Given the description of an element on the screen output the (x, y) to click on. 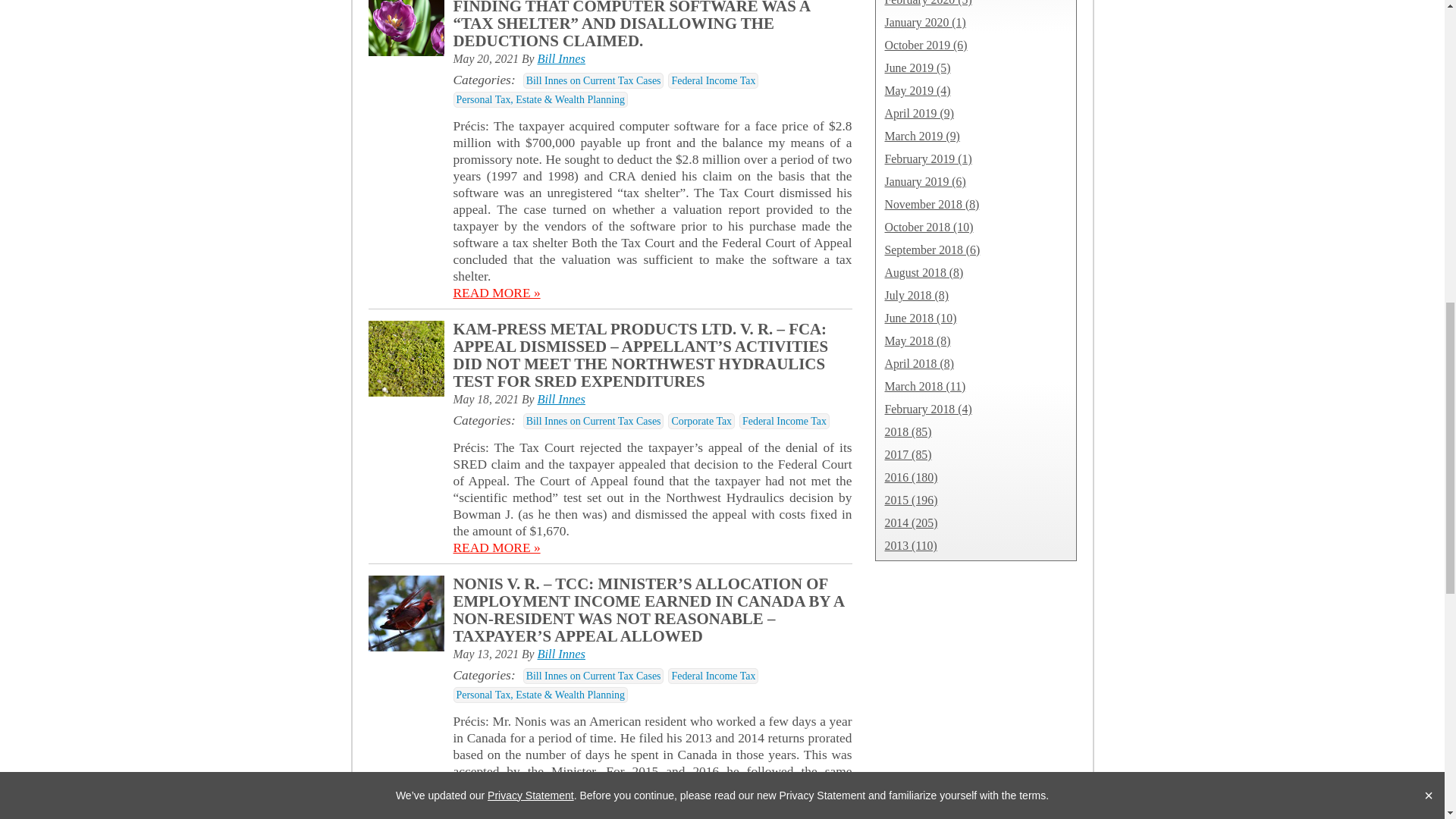
see more posts from Bill Innes (561, 58)
